Given the description of an element on the screen output the (x, y) to click on. 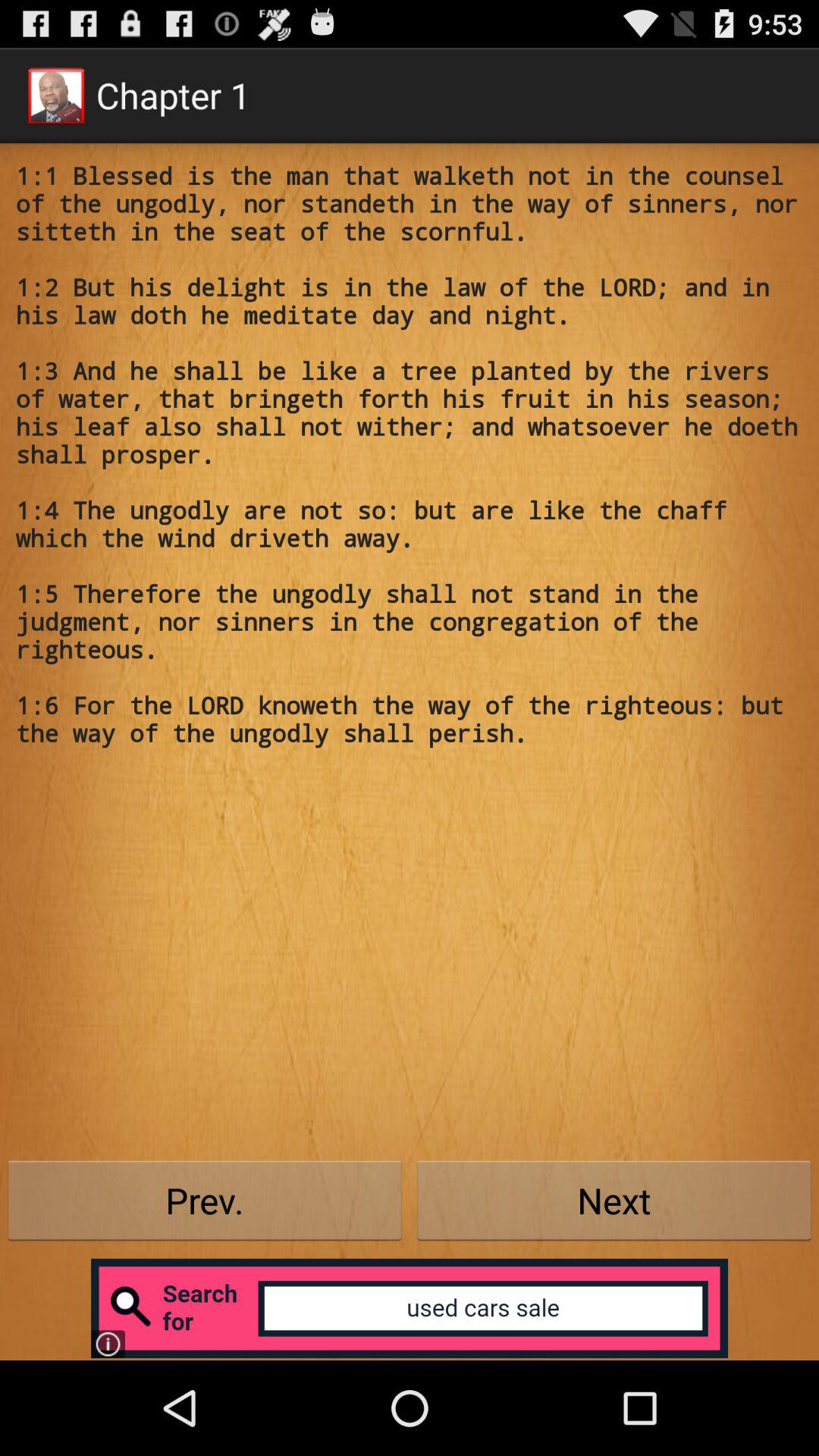
open search (409, 1308)
